Given the description of an element on the screen output the (x, y) to click on. 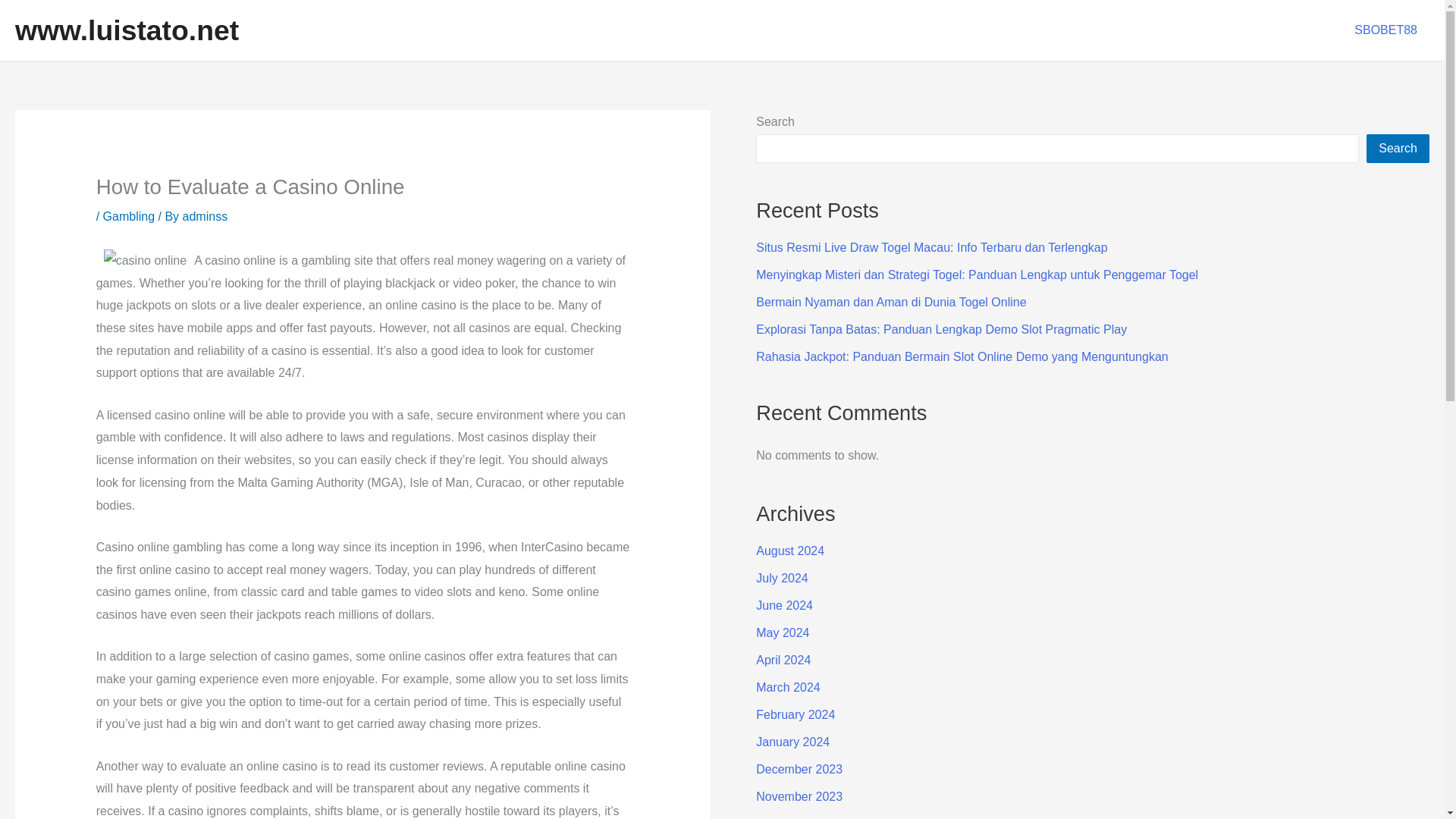
June 2024 (783, 604)
February 2024 (794, 714)
Bermain Nyaman dan Aman di Dunia Togel Online (890, 301)
January 2024 (792, 741)
Gambling (128, 215)
adminss (205, 215)
July 2024 (781, 577)
SBOBET88 (1385, 30)
November 2023 (799, 796)
October 2023 (792, 818)
April 2024 (782, 659)
View all posts by adminss (205, 215)
Search (1398, 148)
